Given the description of an element on the screen output the (x, y) to click on. 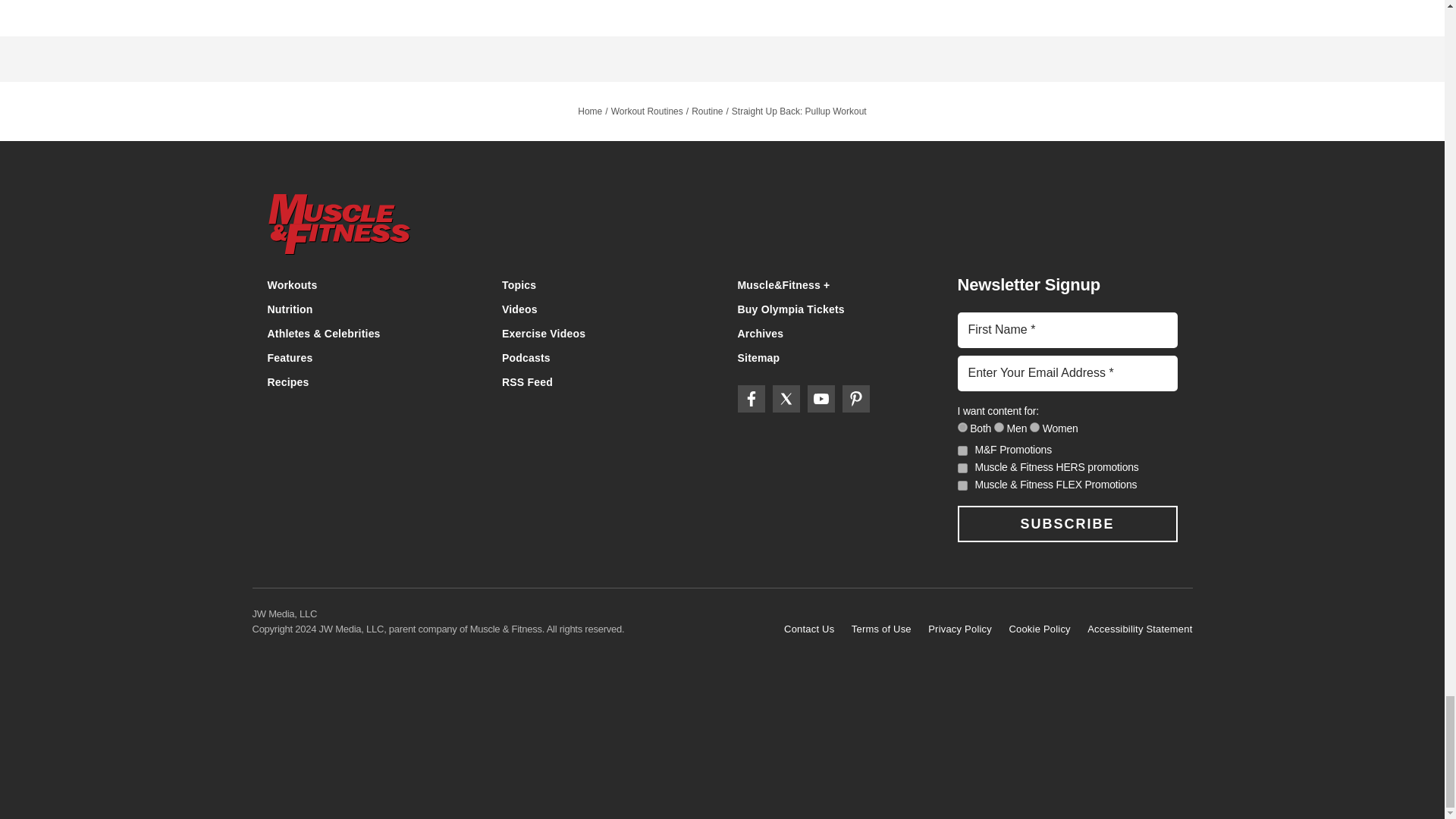
711 (961, 427)
715 (1034, 427)
713 (999, 427)
